Given the description of an element on the screen output the (x, y) to click on. 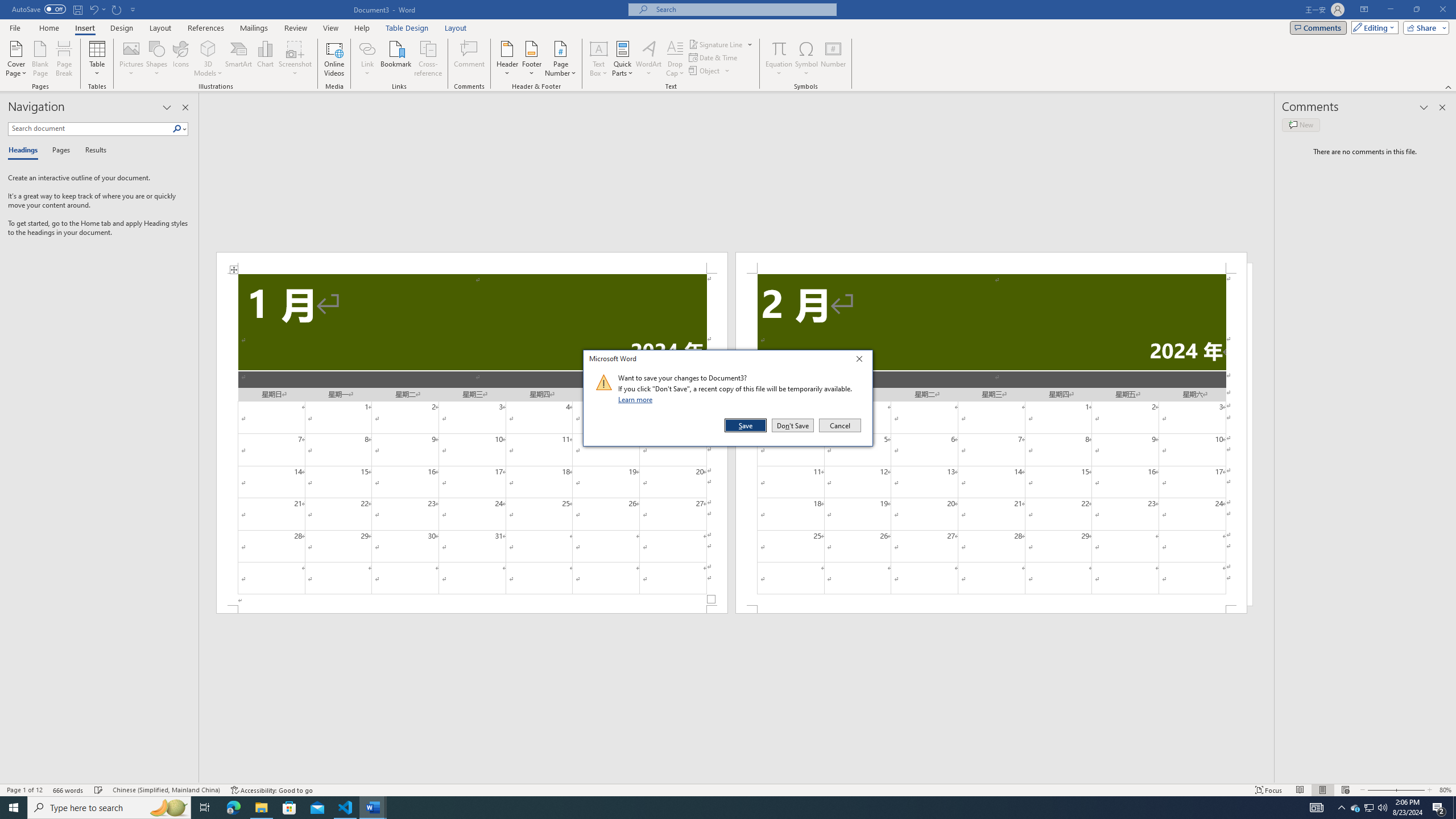
Home (48, 28)
Link (367, 58)
Read Mode (1299, 790)
Spelling and Grammar Check Checking (98, 790)
AutomationID: 4105 (1316, 807)
Page Number Page 1 of 12 (24, 790)
Class: NetUIScrollBar (736, 778)
Running applications (717, 807)
Comment (469, 58)
Page Number (560, 58)
Cover Page (16, 58)
Drop Cap (674, 58)
Online Videos... (333, 58)
